Given the description of an element on the screen output the (x, y) to click on. 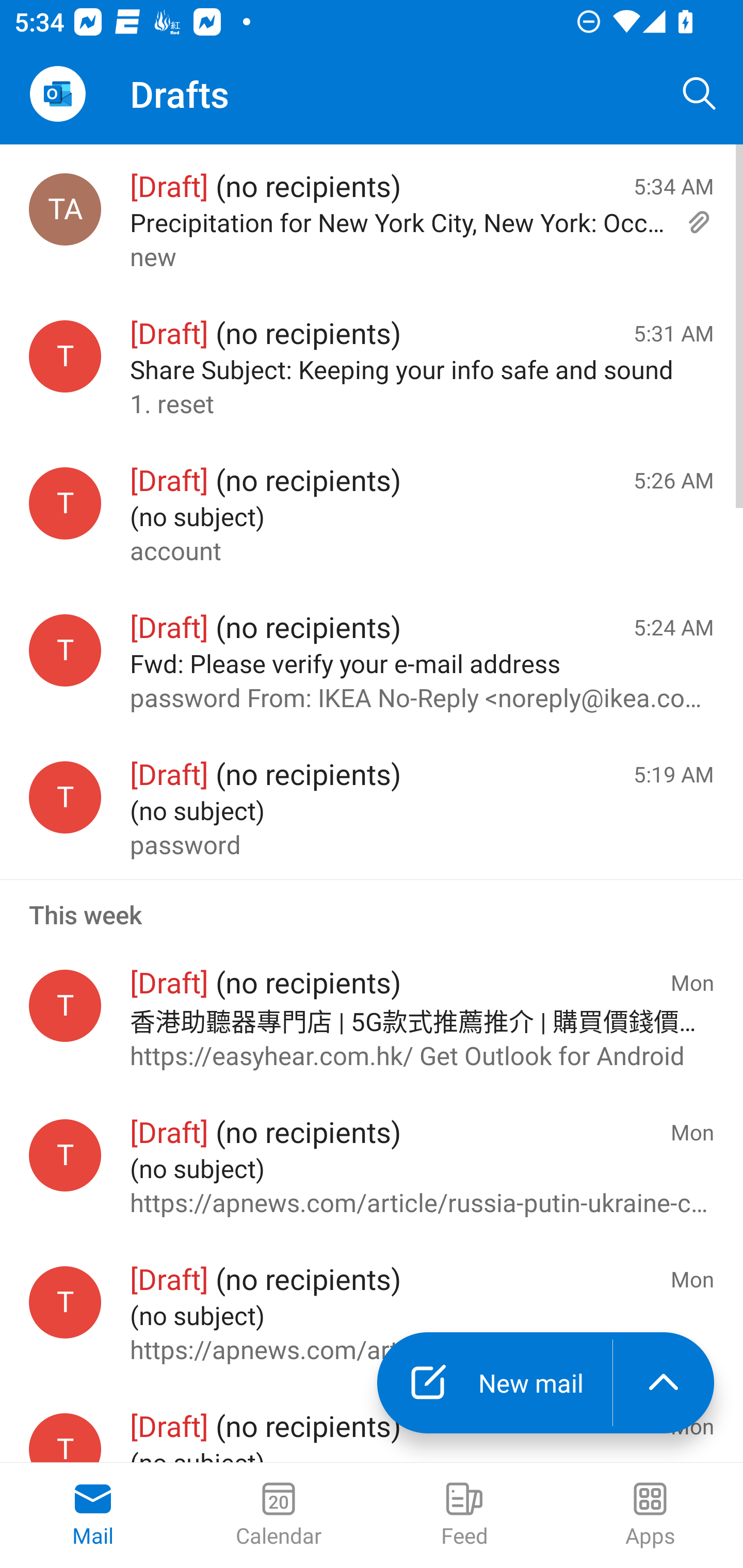
Search, ,  (699, 93)
Open Navigation Drawer (57, 94)
Test Appium, testappium002@outlook.com (64, 210)
testappium002@outlook.com (64, 355)
testappium002@outlook.com (64, 503)
testappium002@outlook.com (64, 650)
testappium002@outlook.com (64, 798)
testappium002@outlook.com (64, 1005)
testappium002@outlook.com (64, 1155)
testappium002@outlook.com (64, 1302)
New mail (494, 1382)
launch the extended action menu (663, 1382)
testappium002@outlook.com (64, 1437)
Calendar (278, 1515)
Feed (464, 1515)
Apps (650, 1515)
